Given the description of an element on the screen output the (x, y) to click on. 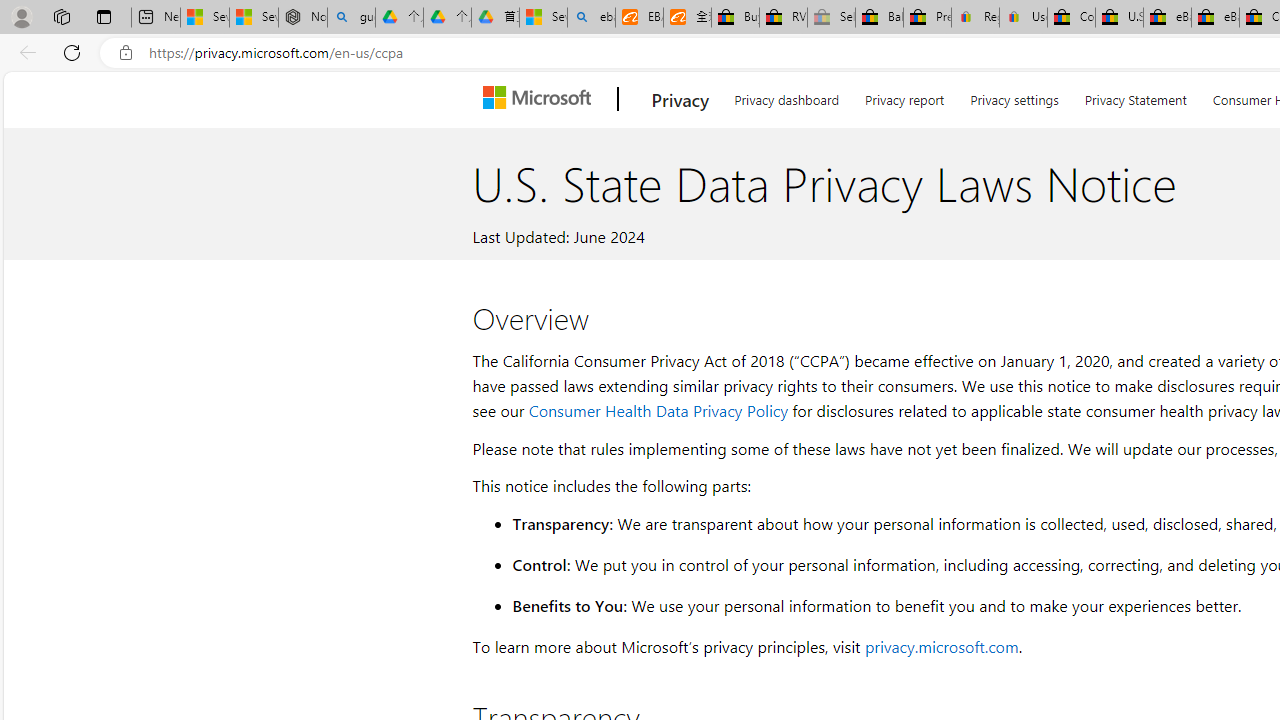
User Privacy Notice | eBay (1023, 17)
Microsoft (541, 99)
Privacy settings (1014, 96)
U.S. State Privacy Disclosures - eBay Inc. (1119, 17)
Consumer Health Data Privacy Policy (657, 410)
Baby Keepsakes & Announcements for sale | eBay (879, 17)
Privacy dashboard (786, 96)
Privacy (680, 99)
Press Room - eBay Inc. (927, 17)
privacy.microsoft.com (941, 645)
Personal Profile (21, 16)
Tab actions menu (104, 16)
Sell worldwide with eBay - Sleeping (831, 17)
